Given the description of an element on the screen output the (x, y) to click on. 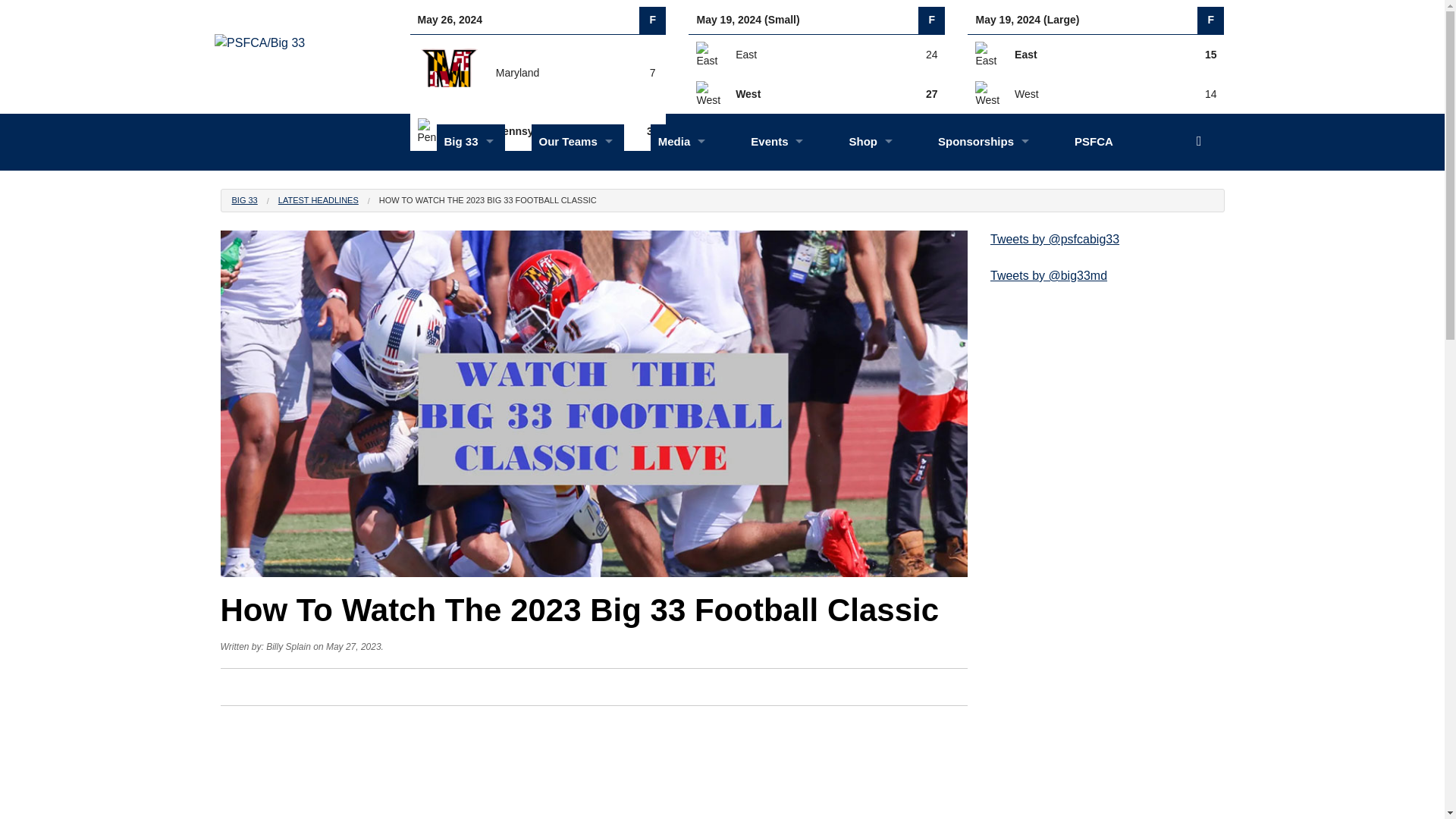
East (707, 53)
West (707, 93)
Pennsylvania (448, 130)
East (986, 53)
Maryland (448, 72)
West (986, 93)
